Given the description of an element on the screen output the (x, y) to click on. 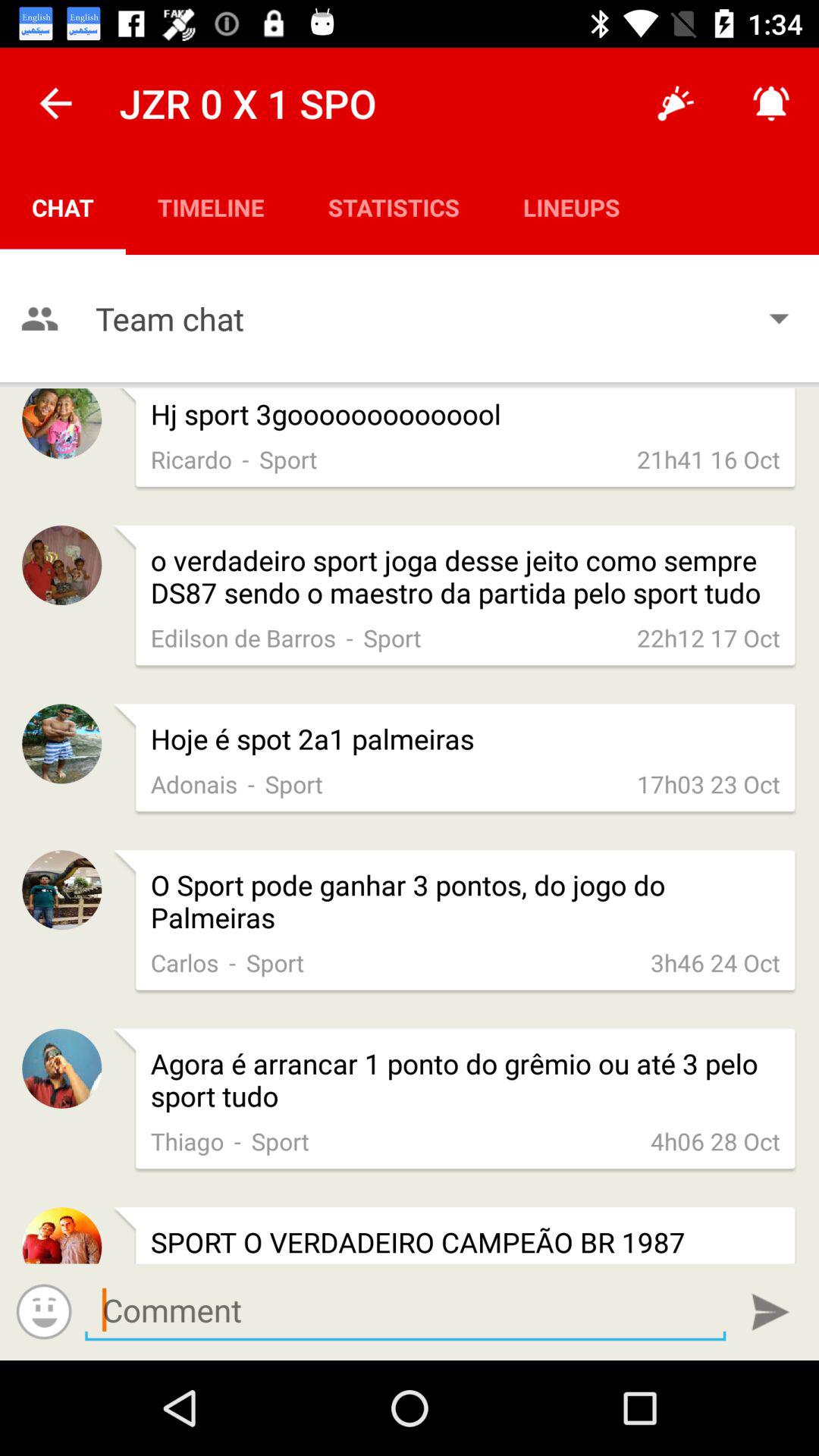
turn on the - item (237, 1140)
